Given the description of an element on the screen output the (x, y) to click on. 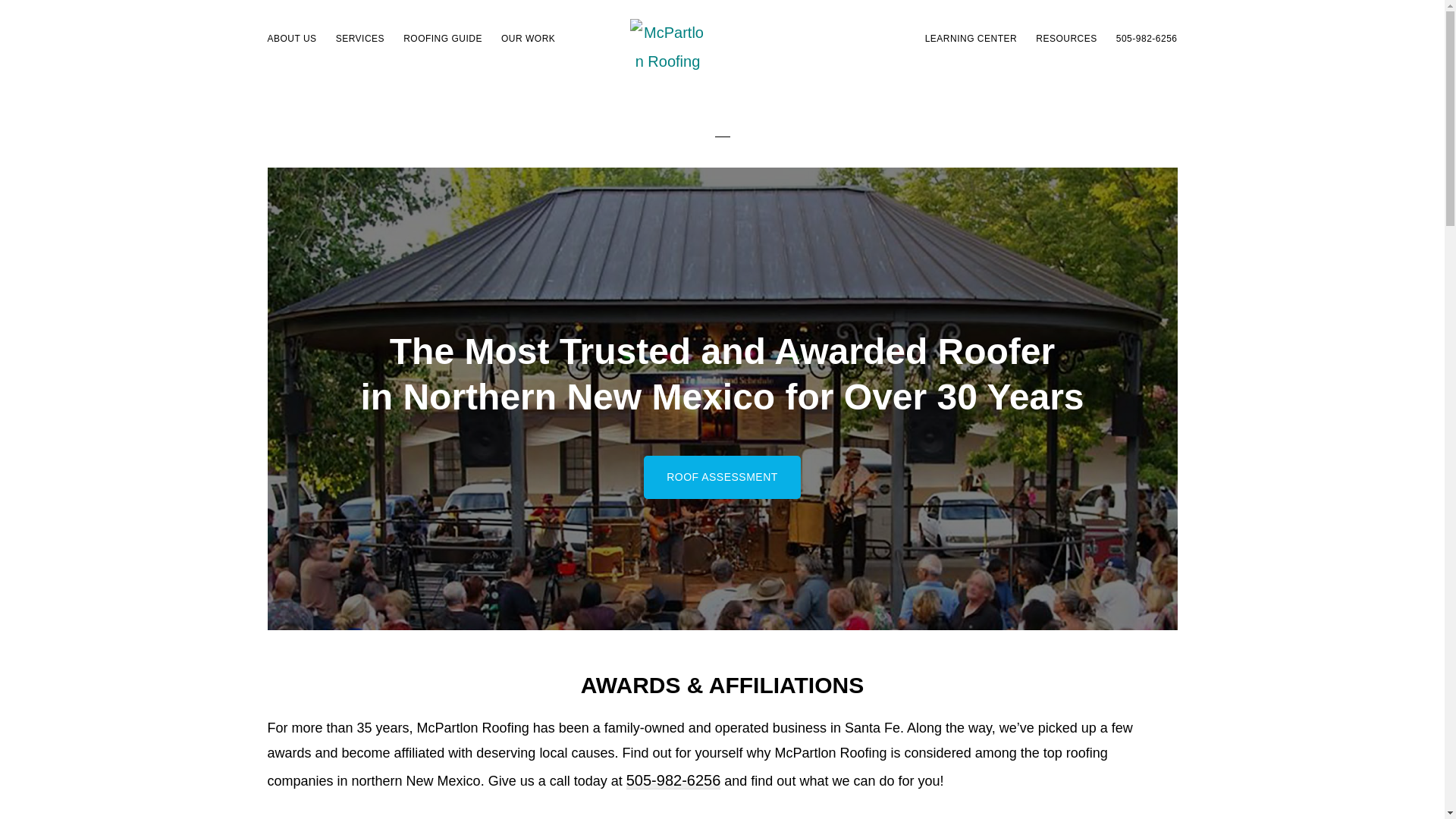
505-982-6256 (673, 780)
ROOF ASSESSMENT (721, 476)
RESOURCES (1066, 37)
505-982-6256 (1146, 37)
SERVICES (360, 37)
ABOUT US (291, 37)
OUR WORK (527, 37)
LEARNING CENTER (971, 37)
ROOFING GUIDE (442, 37)
